Given the description of an element on the screen output the (x, y) to click on. 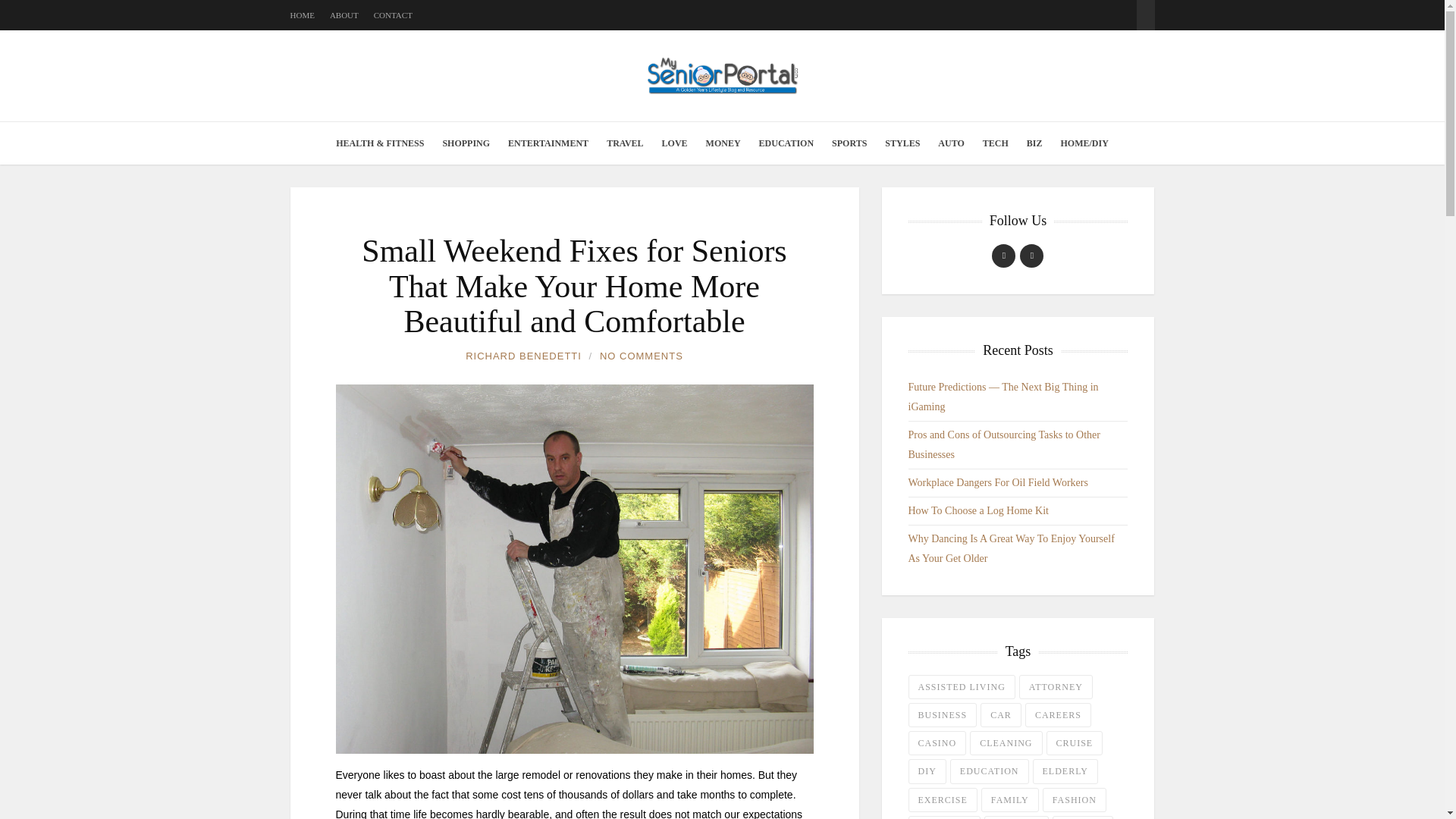
STYLES (902, 143)
EDUCATION (785, 143)
SPORTS (849, 143)
TECH (995, 143)
LOVE (674, 143)
NO COMMENTS (640, 356)
RICHARD BENEDETTI (522, 356)
AUTO (950, 143)
ABOUT (344, 15)
CONTACT (393, 15)
SHOPPING (465, 143)
ENTERTAINMENT (547, 143)
Posts by Richard Benedetti (522, 356)
TRAVEL (624, 143)
MONEY (723, 143)
